Given the description of an element on the screen output the (x, y) to click on. 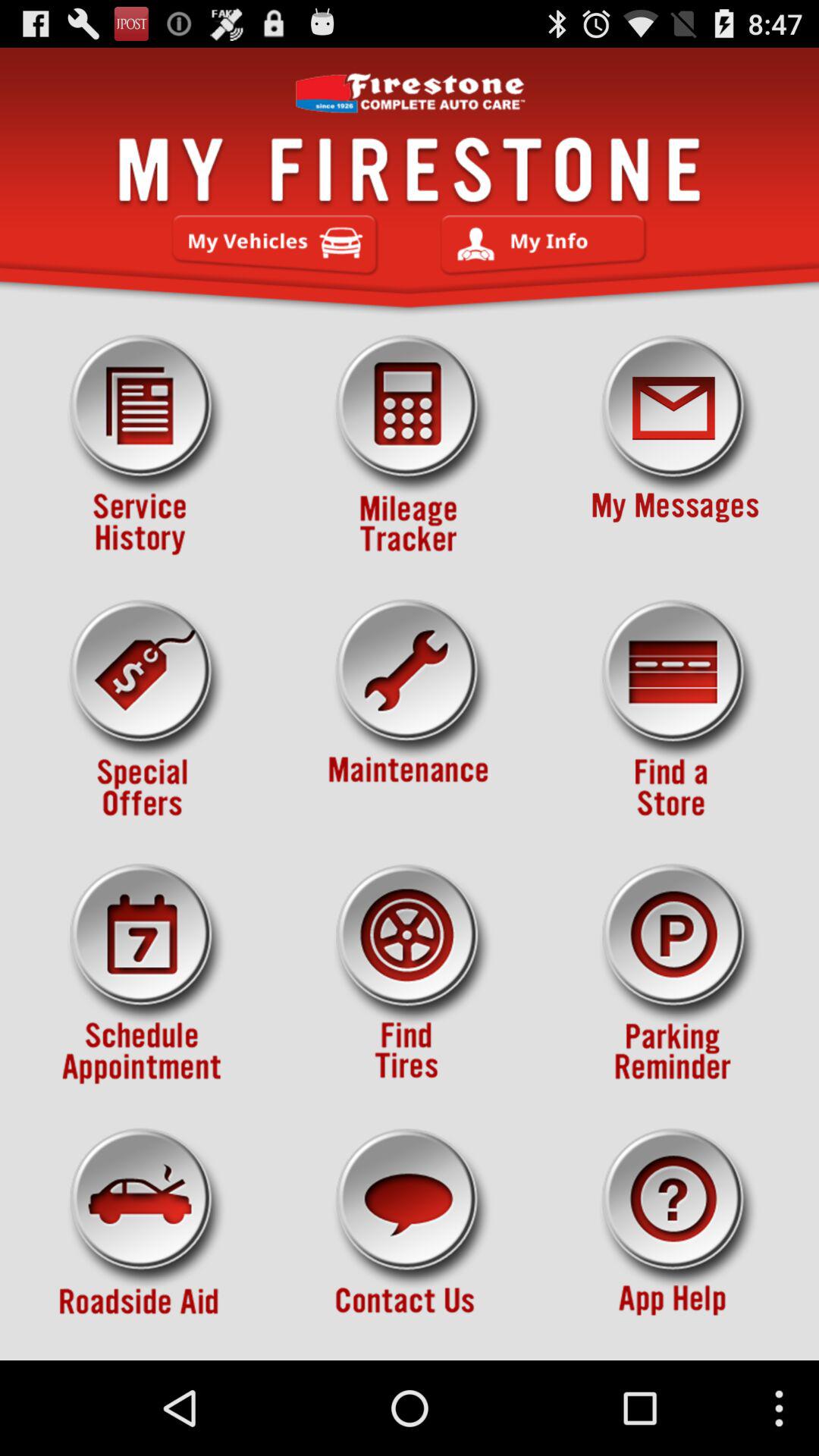
find tires button (409, 974)
